Given the description of an element on the screen output the (x, y) to click on. 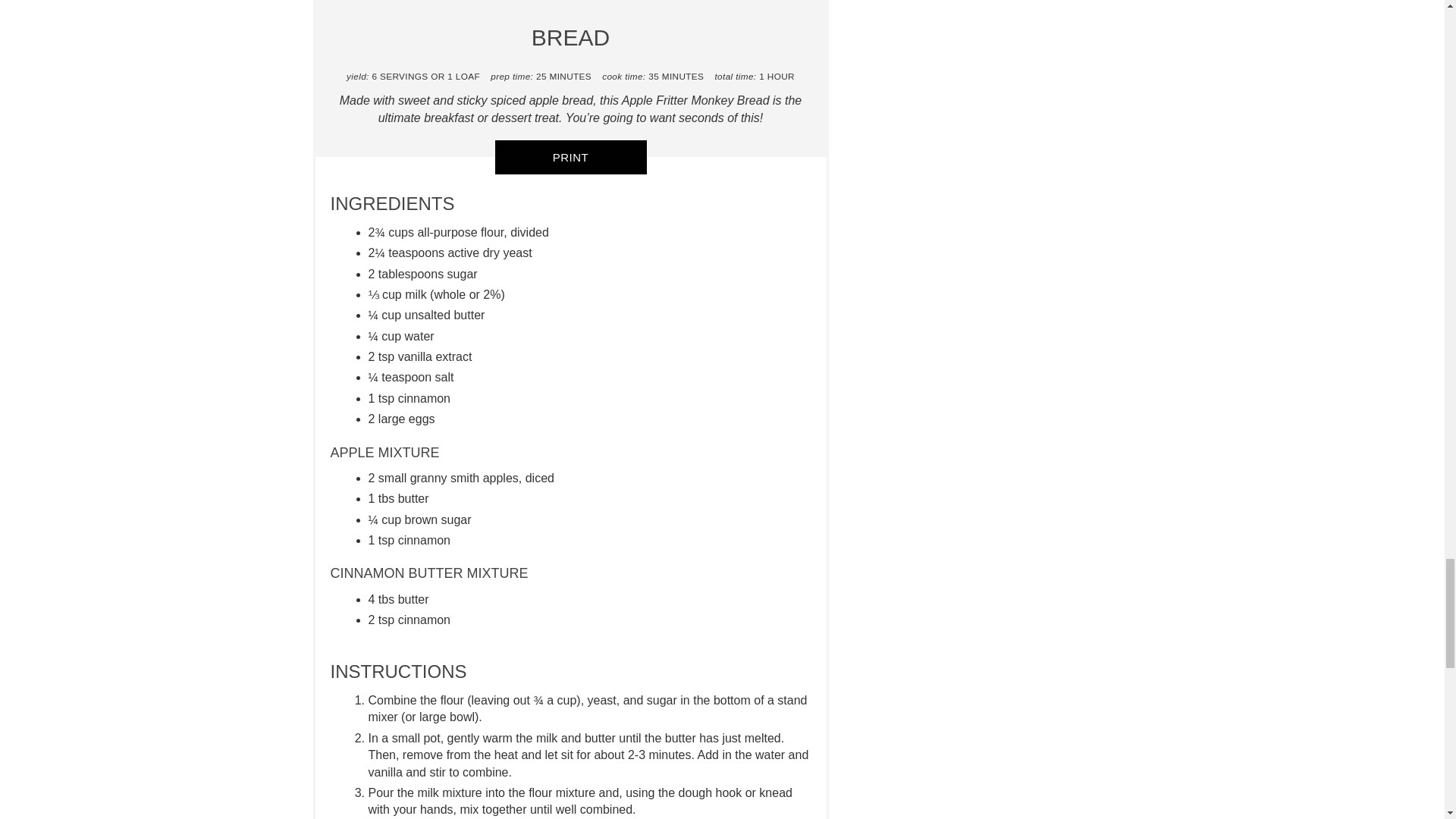
PRINT (570, 157)
